Given the description of an element on the screen output the (x, y) to click on. 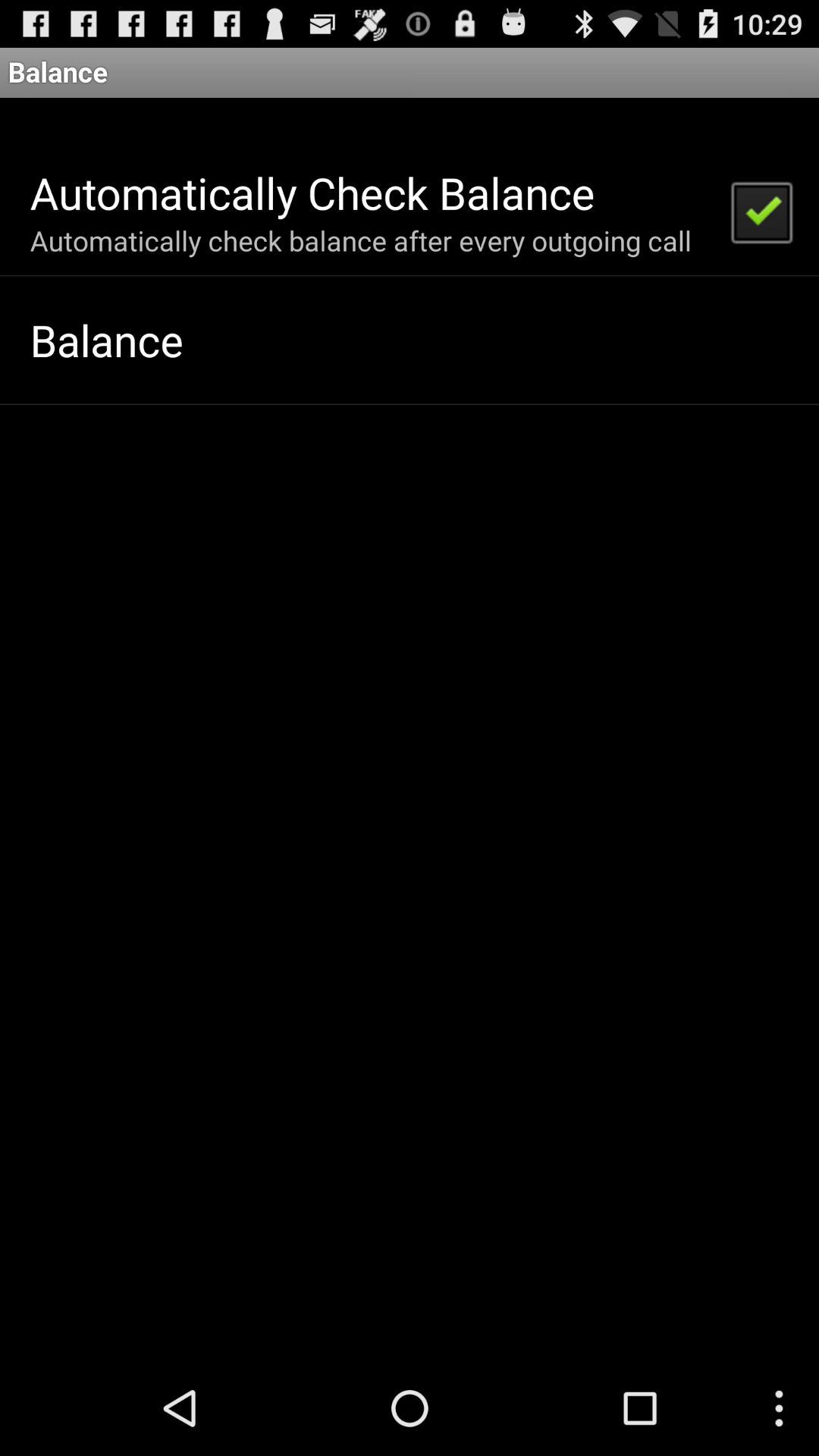
click the app next to the automatically check balance (761, 211)
